Given the description of an element on the screen output the (x, y) to click on. 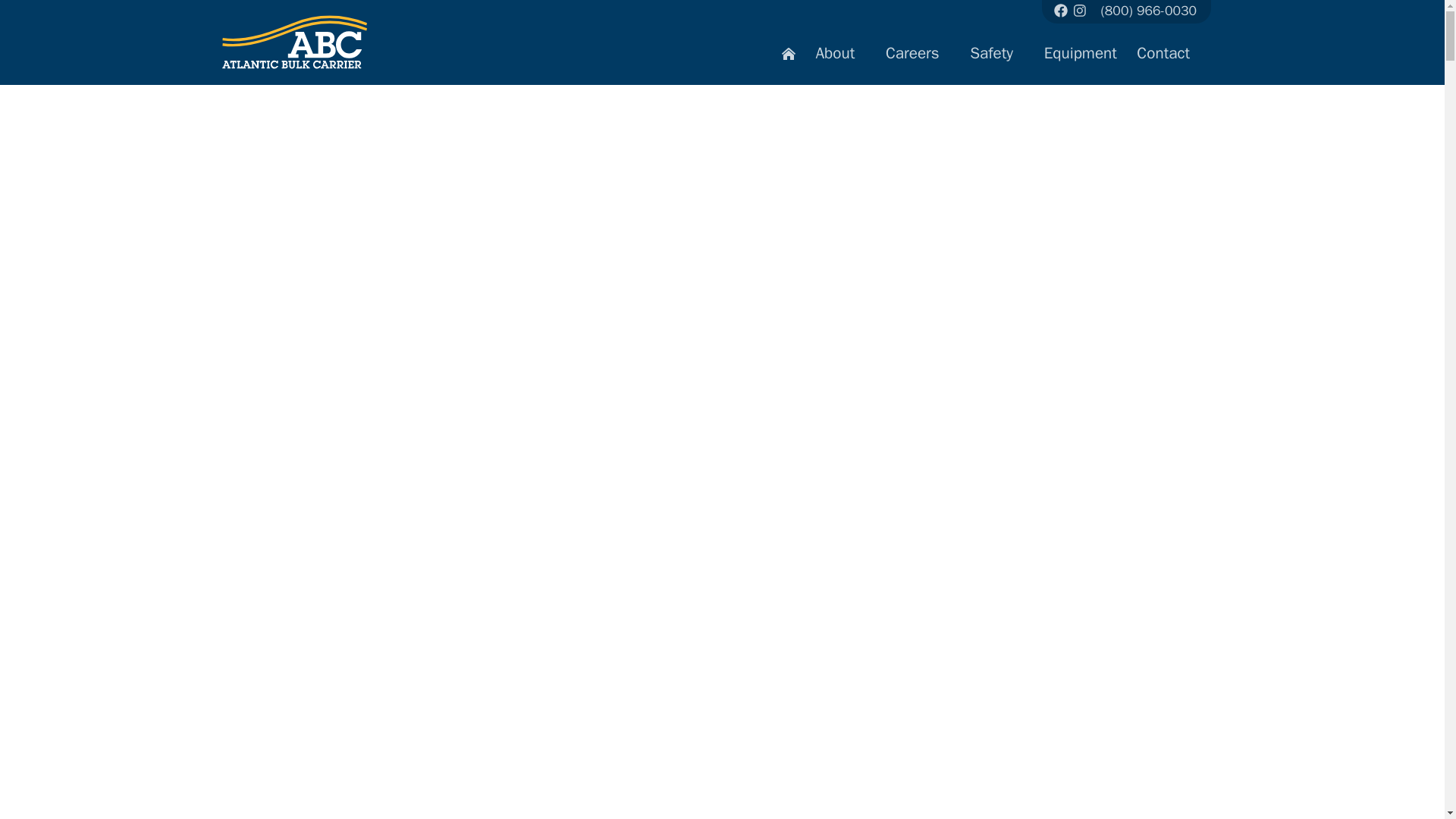
Contact (1169, 57)
Facebook (1062, 11)
Homepage button (787, 53)
Facebook (1060, 10)
Safety (996, 57)
Equipment (1080, 57)
About (841, 57)
Atlantic Bulk Carrier (293, 42)
LinkedIn (1080, 11)
Homepage button (788, 57)
LinkedIn (1080, 10)
Atlantic Bulk Carrier (281, 36)
Careers (917, 57)
